Given the description of an element on the screen output the (x, y) to click on. 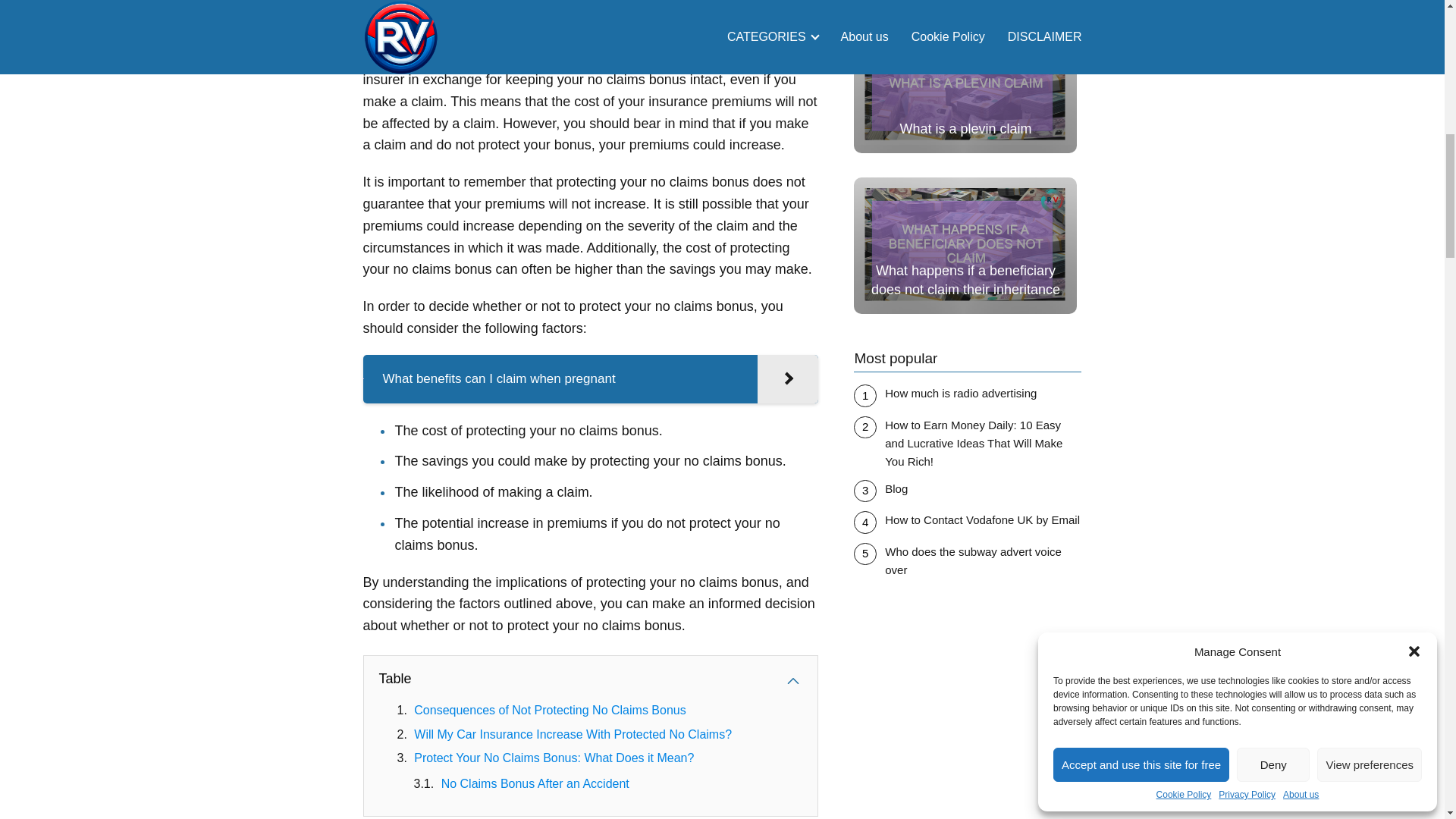
Consequences of Not Protecting No Claims Bonus (549, 709)
No Claims Bonus After an Accident (534, 783)
Will My Car Insurance Increase With Protected No Claims? (572, 734)
Protect Your No Claims Bonus: What Does it Mean? (553, 757)
